Given the description of an element on the screen output the (x, y) to click on. 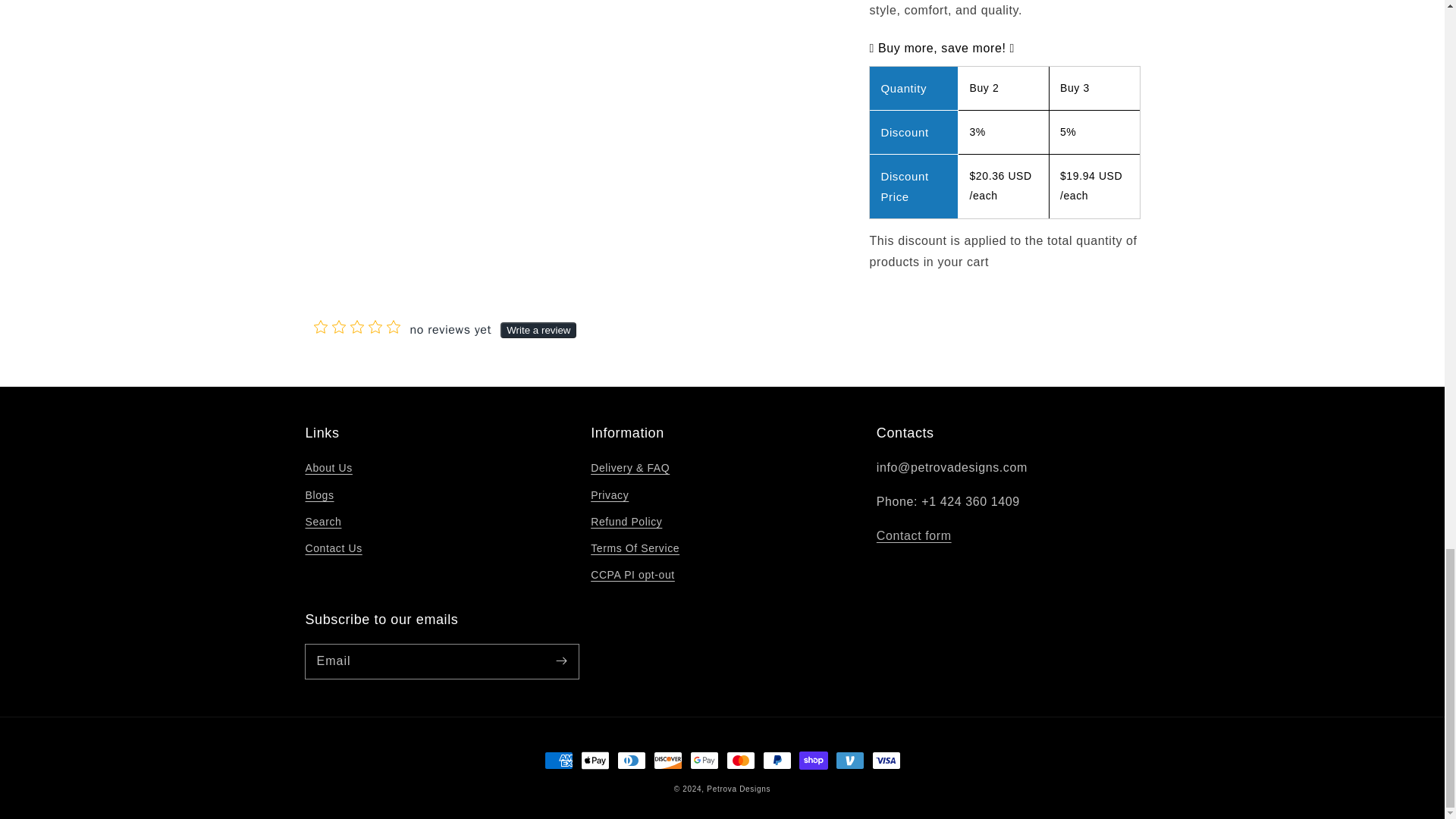
Contact (914, 535)
